Given the description of an element on the screen output the (x, y) to click on. 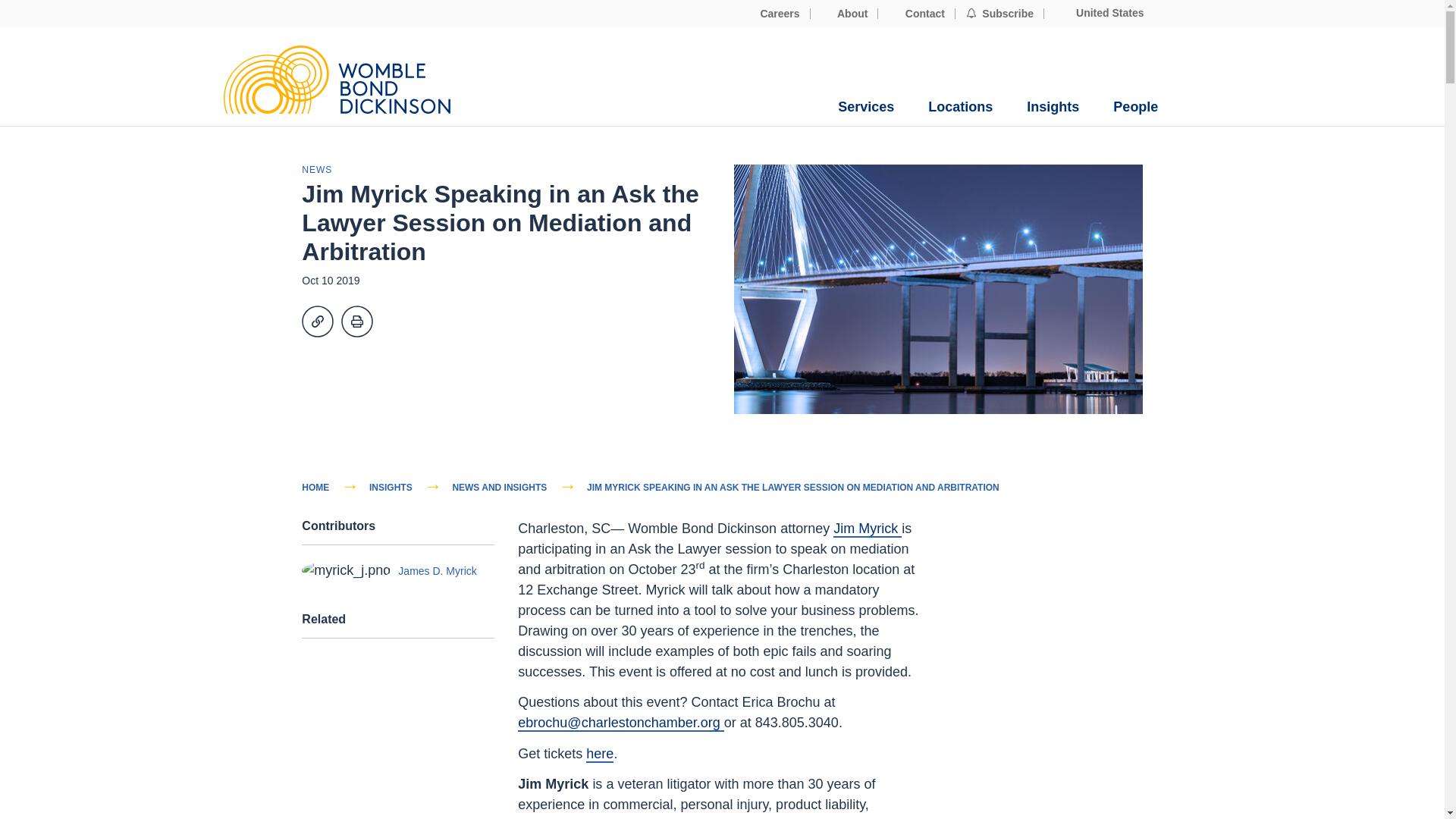
Careers (771, 13)
Ask a Lawyer (599, 754)
Locations (960, 107)
Services (865, 107)
Contact (916, 13)
United States (1098, 13)
About (844, 13)
